Given the description of an element on the screen output the (x, y) to click on. 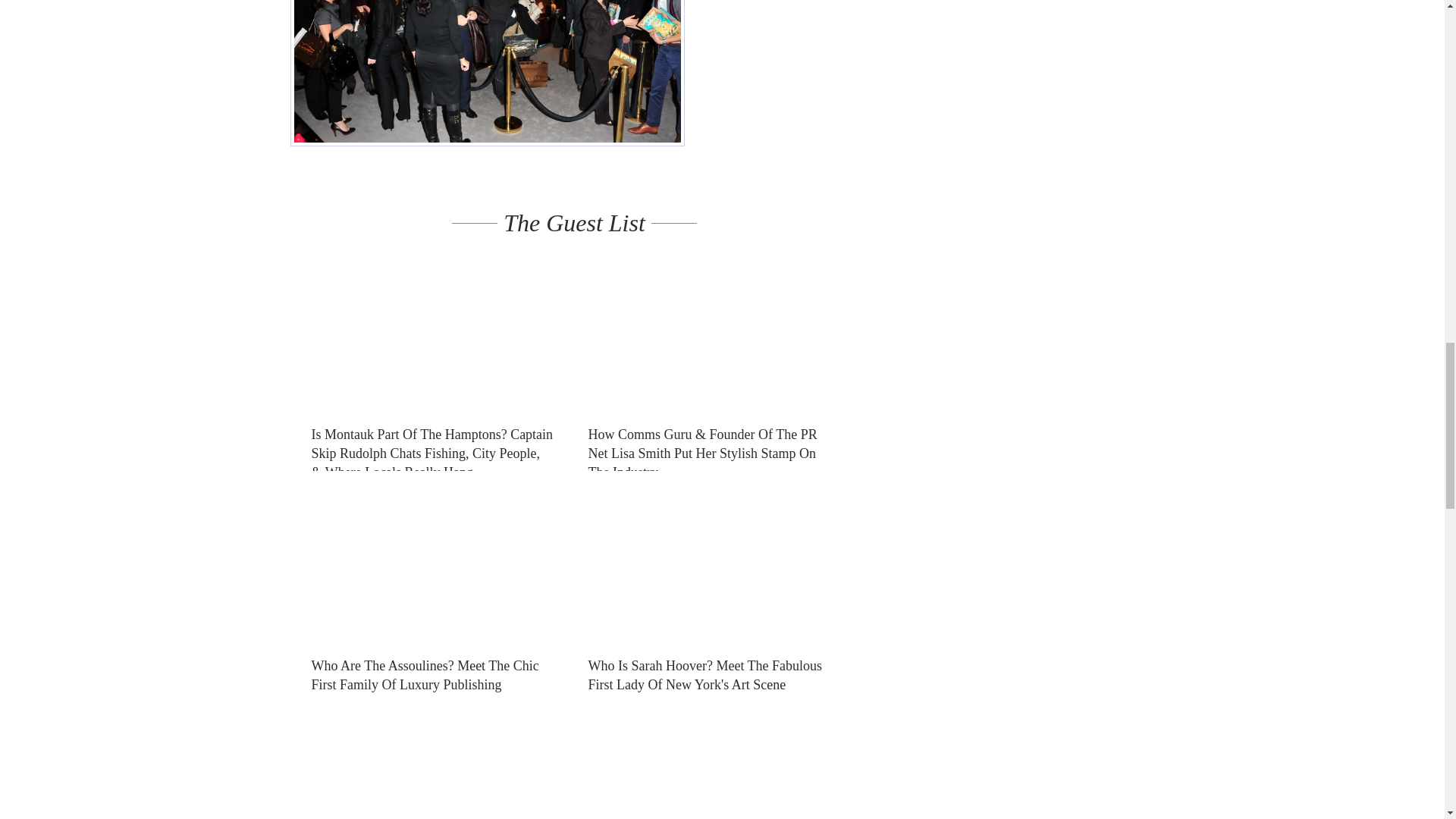
The Guest List (574, 222)
Meet The Glamorous Next Generation Of Billionaire Heiresses (708, 759)
Atmosphere  (486, 73)
